Given the description of an element on the screen output the (x, y) to click on. 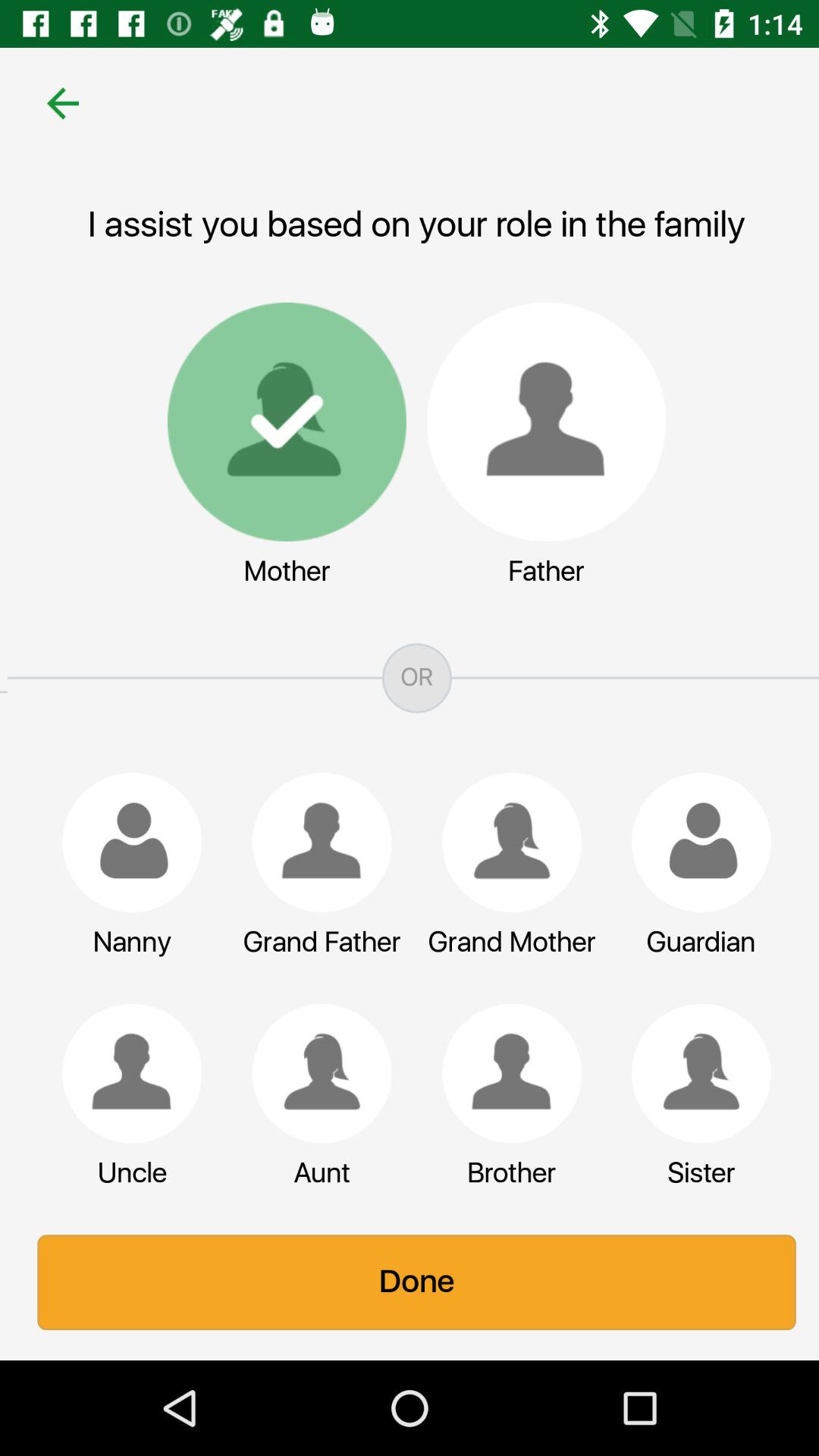
select object (124, 1073)
